Given the description of an element on the screen output the (x, y) to click on. 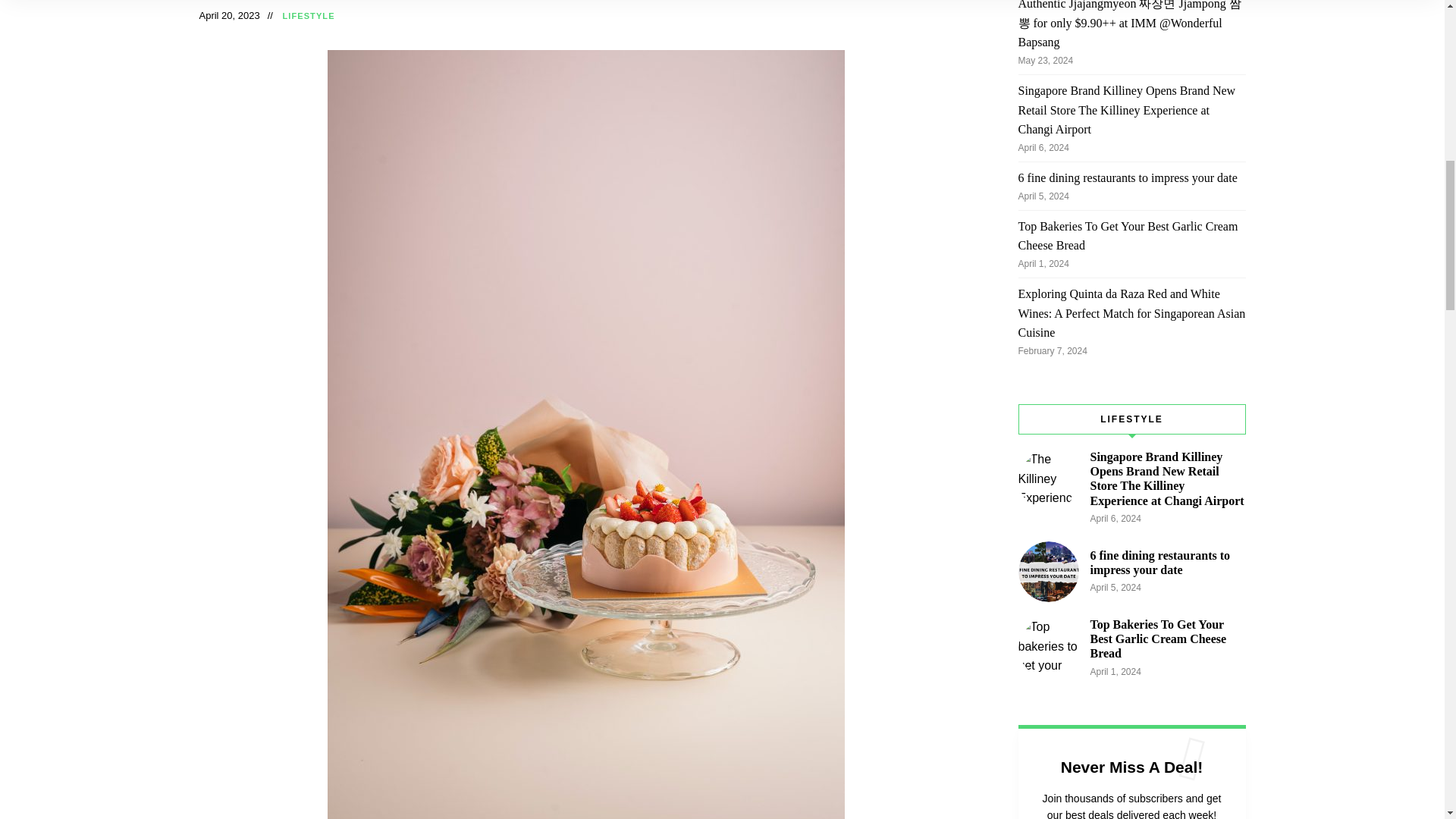
LIFESTYLE (308, 16)
